Given the description of an element on the screen output the (x, y) to click on. 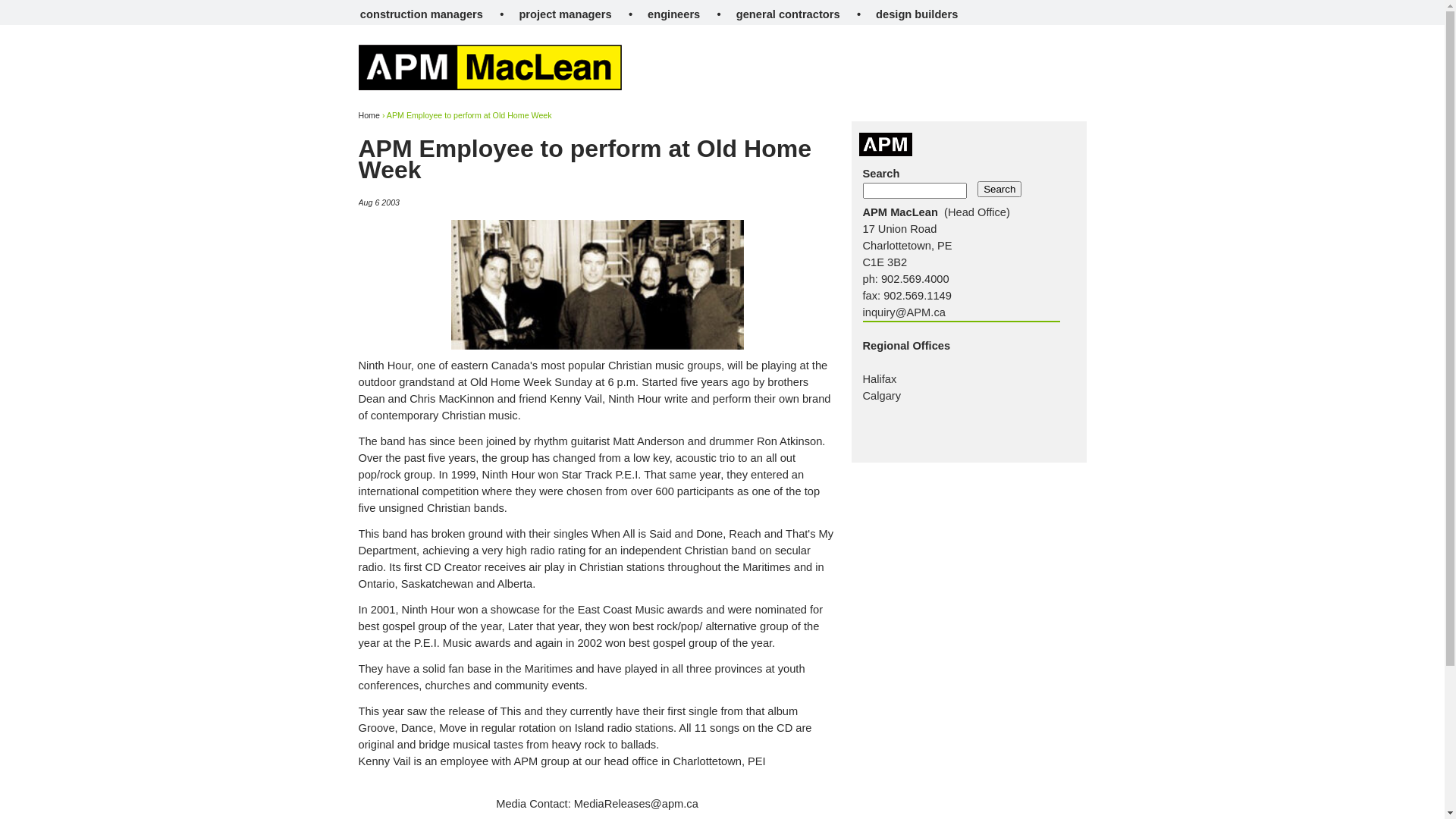
Enter the terms you wish to search for. Element type: hover (914, 190)
MediaReleases@apm.ca Element type: text (636, 803)
services Element type: text (669, 95)
Search Element type: text (999, 189)
Search apm.ca Element type: text (990, 68)
Calgary Element type: text (881, 395)
contact us Element type: text (1039, 95)
media Element type: text (933, 95)
design builders Element type: text (916, 14)
project managers Element type: text (564, 14)
who we are Element type: text (403, 95)
Home Element type: text (368, 114)
inquiry@APM.ca Element type: text (903, 312)
Halifax Element type: text (879, 379)
Head Office Element type: text (976, 212)
portfolio Element type: text (804, 95)
engineers Element type: text (673, 14)
general contractors Element type: text (788, 14)
what we do Element type: text (525, 95)
construction managers Element type: text (421, 14)
